Given the description of an element on the screen output the (x, y) to click on. 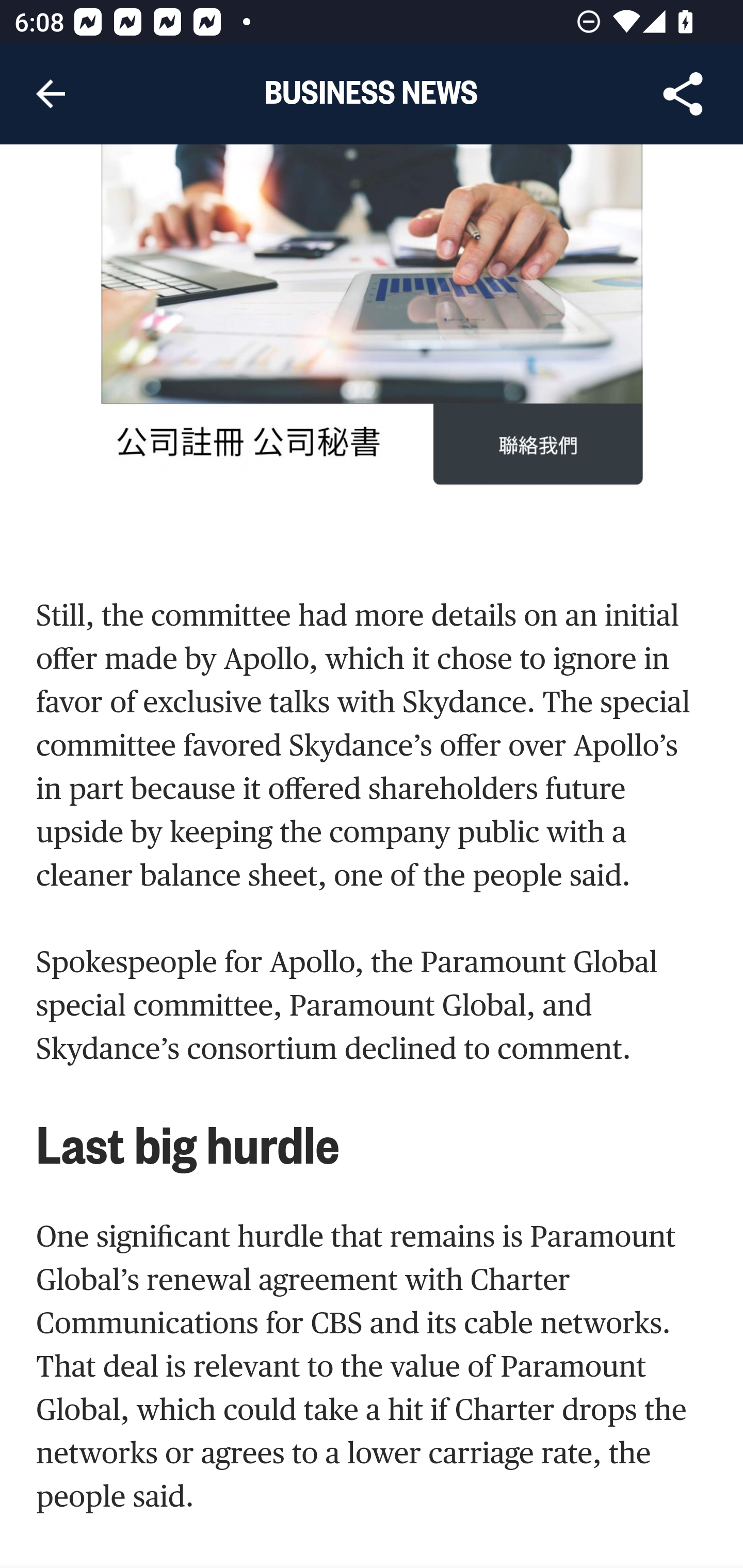
Navigate up (50, 93)
Share Article, button (683, 94)
www.mnnbus (372, 316)
